Given the description of an element on the screen output the (x, y) to click on. 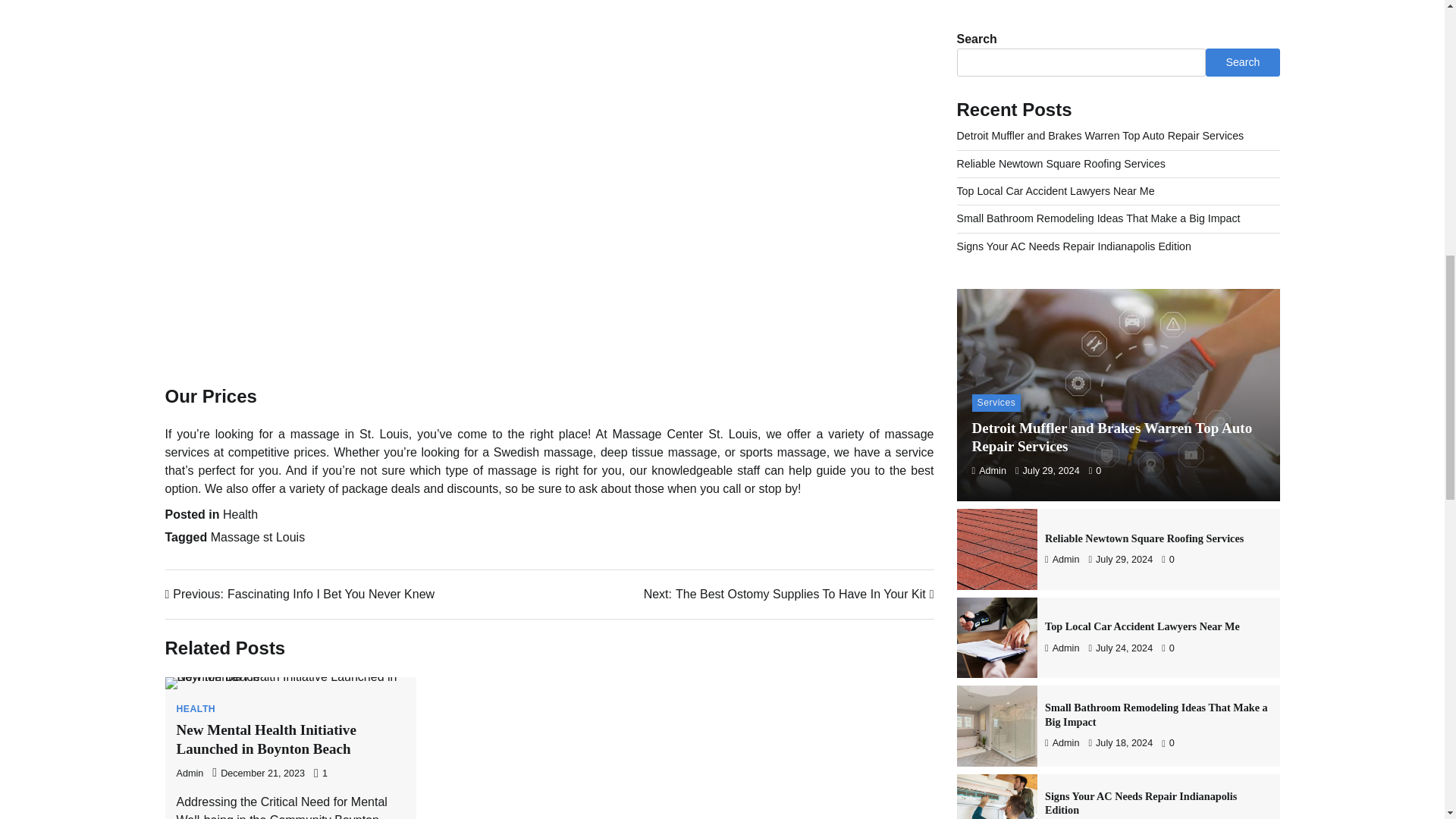
HEALTH (788, 594)
Health (195, 708)
Massage st Louis (239, 513)
Admin (258, 536)
New Mental Health Initiative Launched in Boynton Beach (300, 594)
